Given the description of an element on the screen output the (x, y) to click on. 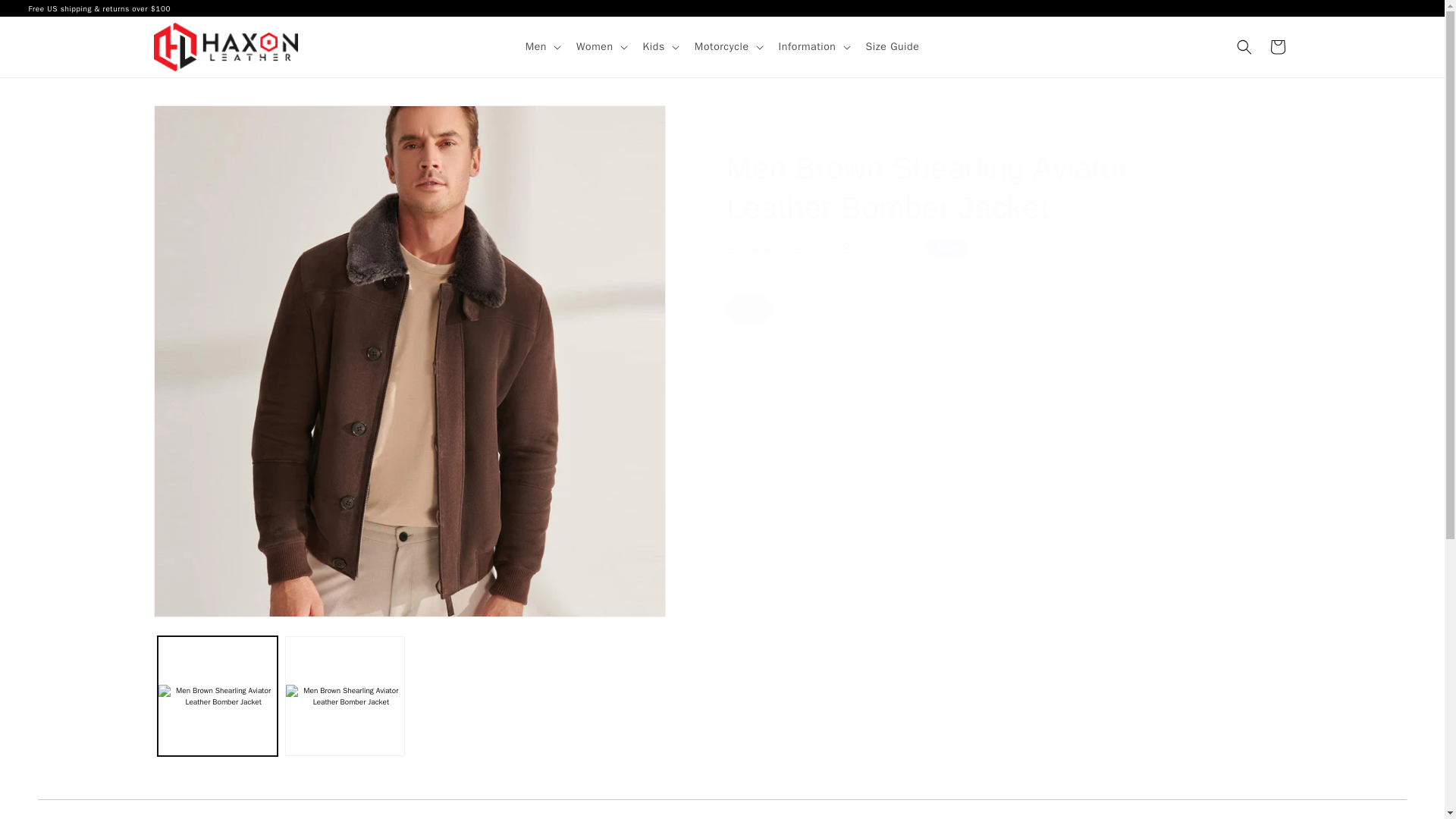
Facebook (1391, 8)
Instagram (1407, 8)
Skip to content (45, 17)
1 (780, 407)
